Given the description of an element on the screen output the (x, y) to click on. 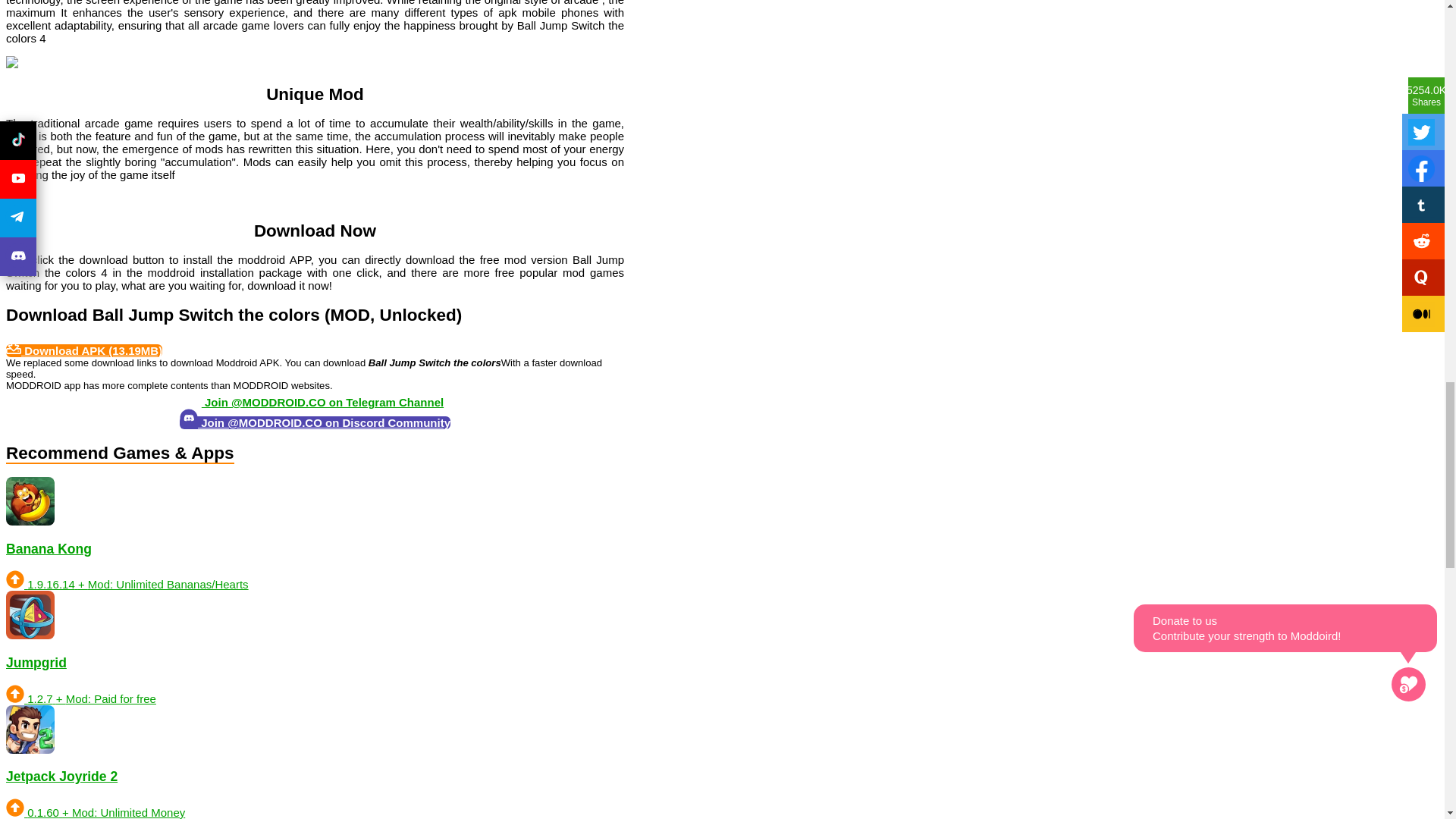
Jumpgrid (430, 647)
Jetpack Joyride 2 (430, 762)
Banana Kong (430, 533)
